Given the description of an element on the screen output the (x, y) to click on. 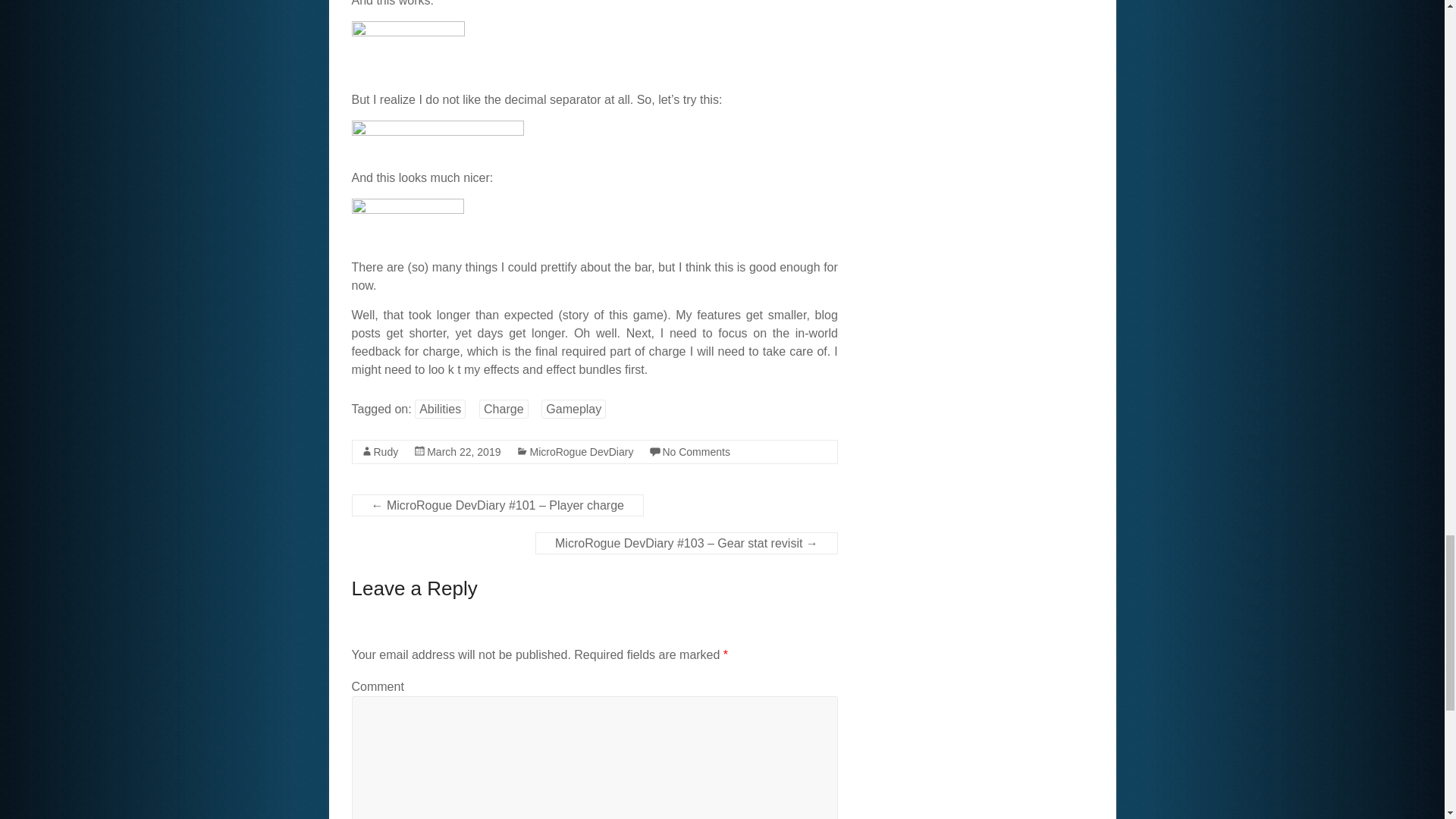
Rudy (384, 451)
Charge (503, 408)
MicroRogue DevDiary (581, 451)
No Comments (695, 451)
Abilities (439, 408)
21:52 (463, 451)
March 22, 2019 (463, 451)
Gameplay (573, 408)
